Given the description of an element on the screen output the (x, y) to click on. 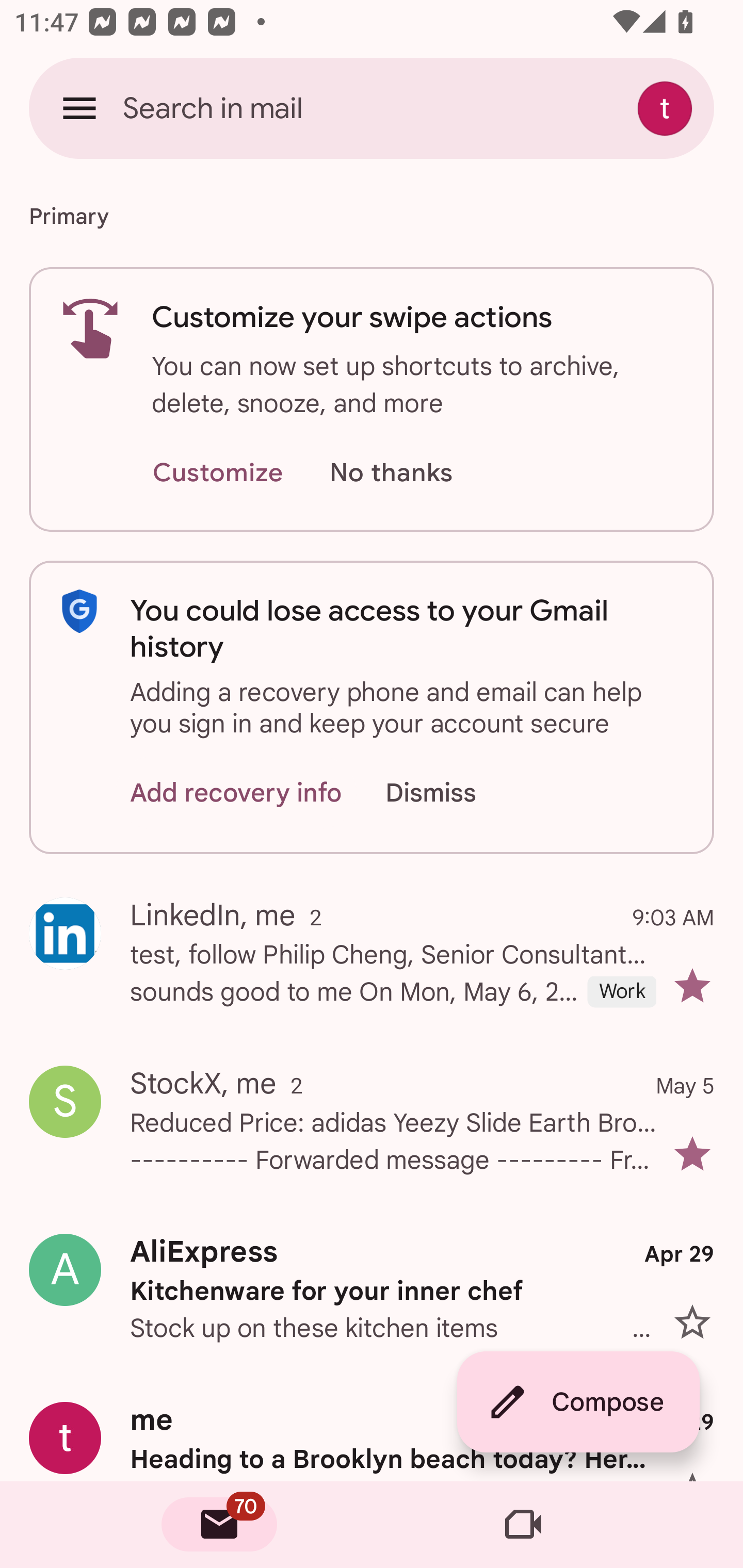
Open navigation drawer (79, 108)
Customize (217, 473)
No thanks (390, 473)
Add recovery info (235, 792)
Dismiss (449, 792)
Compose (577, 1401)
Meet (523, 1524)
